Given the description of an element on the screen output the (x, y) to click on. 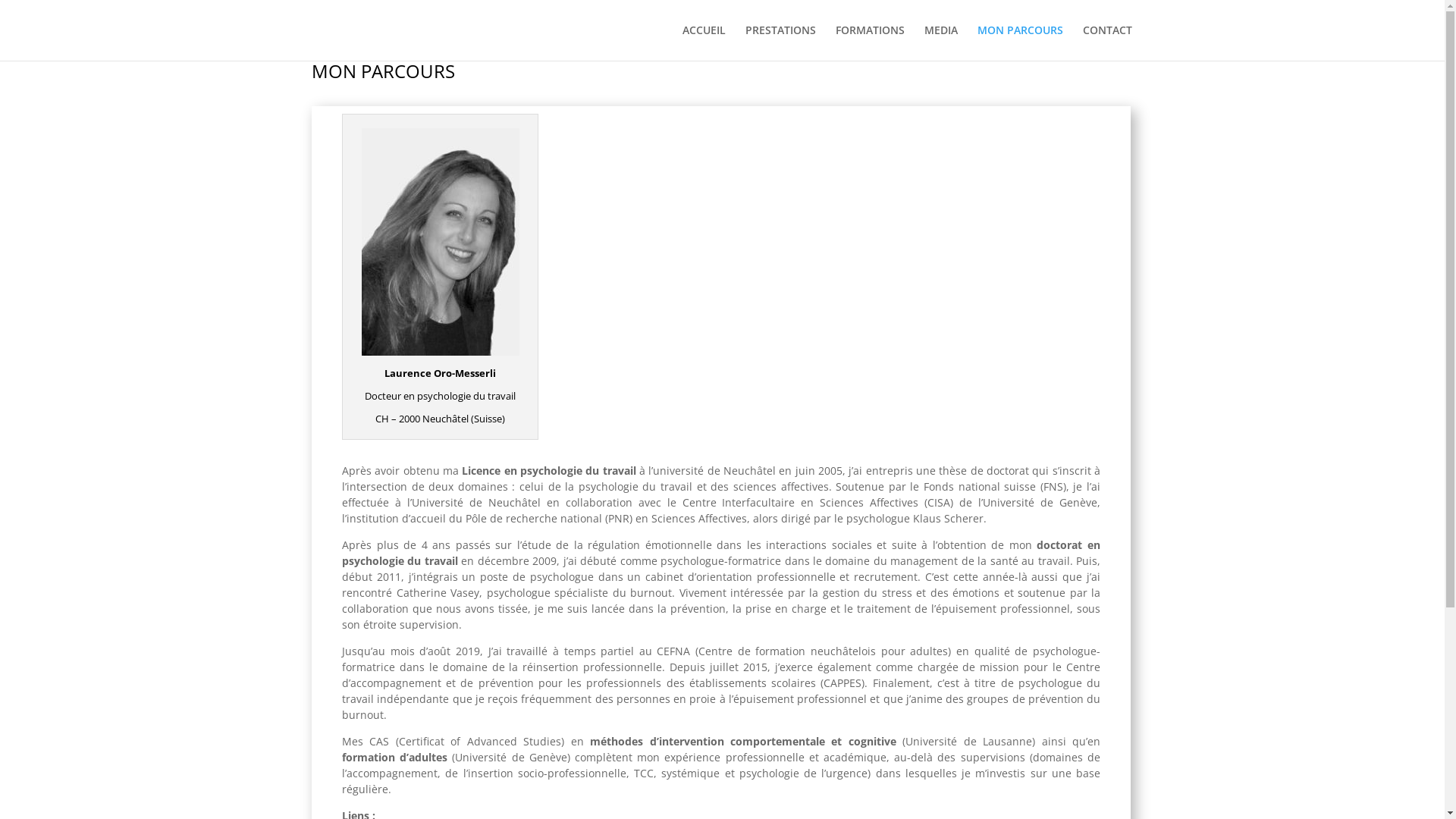
MEDIA Element type: text (940, 42)
FORMATIONS Element type: text (869, 42)
MON PARCOURS Element type: text (1019, 42)
ACCUEIL Element type: text (703, 42)
CONTACT Element type: text (1107, 42)
PRESTATIONS Element type: text (779, 42)
